Given the description of an element on the screen output the (x, y) to click on. 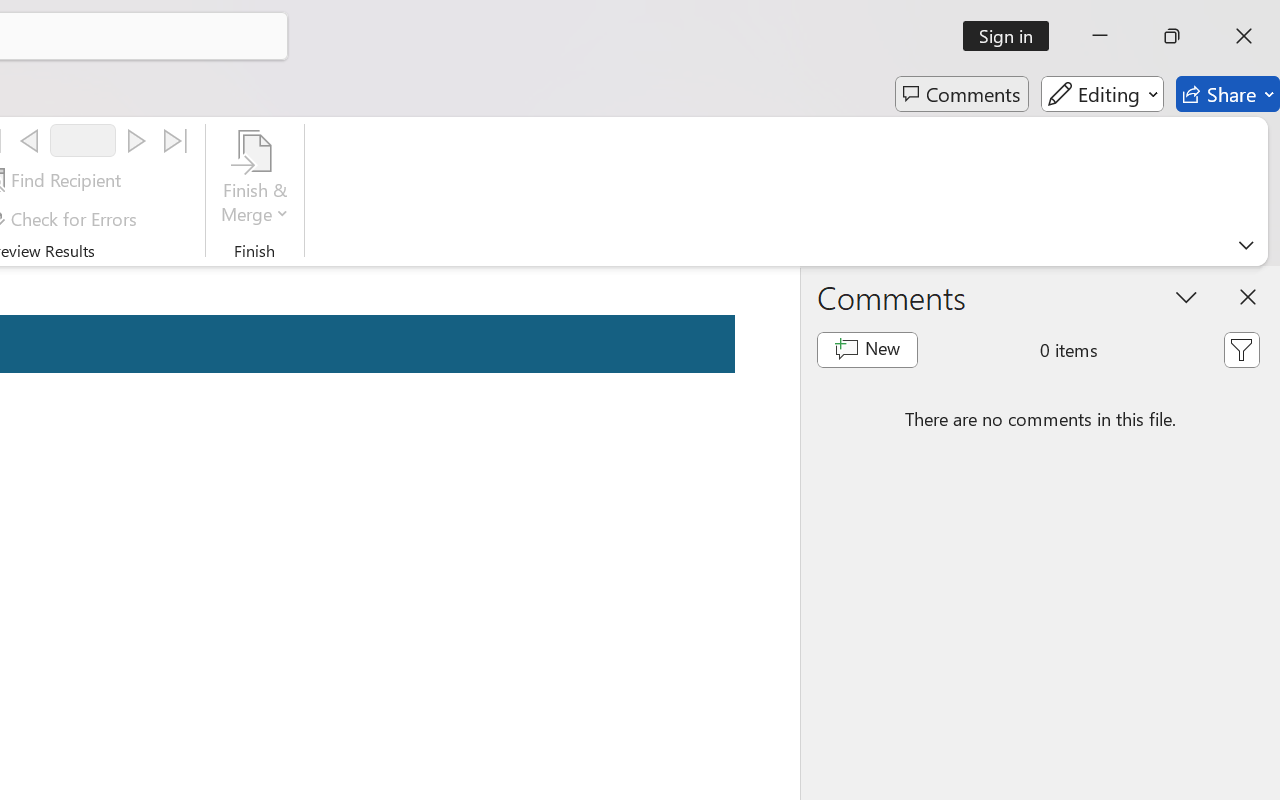
Editing (1101, 94)
Next (136, 141)
Previous (29, 141)
Sign in (1012, 35)
Last (175, 141)
Record (83, 140)
Finish & Merge (255, 179)
New comment (866, 350)
